Given the description of an element on the screen output the (x, y) to click on. 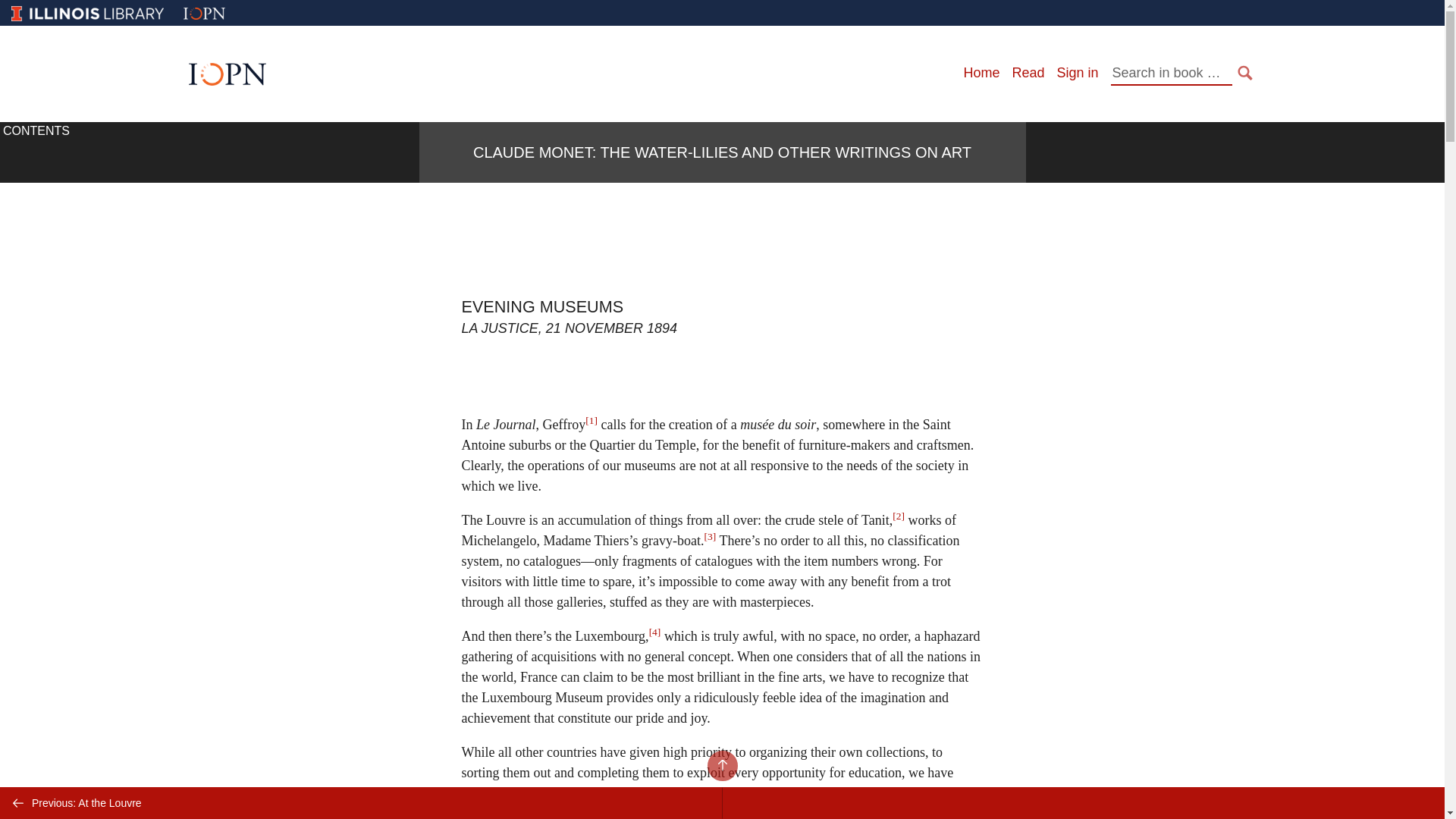
Sign in (1077, 72)
Home (980, 72)
Previous: At the Louvre (361, 803)
Previous: At the Louvre (361, 803)
BACK TO TOP (721, 766)
CLAUDE MONET: THE WATER-LILIES AND OTHER WRITINGS ON ART (722, 151)
Read (1027, 72)
